Given the description of an element on the screen output the (x, y) to click on. 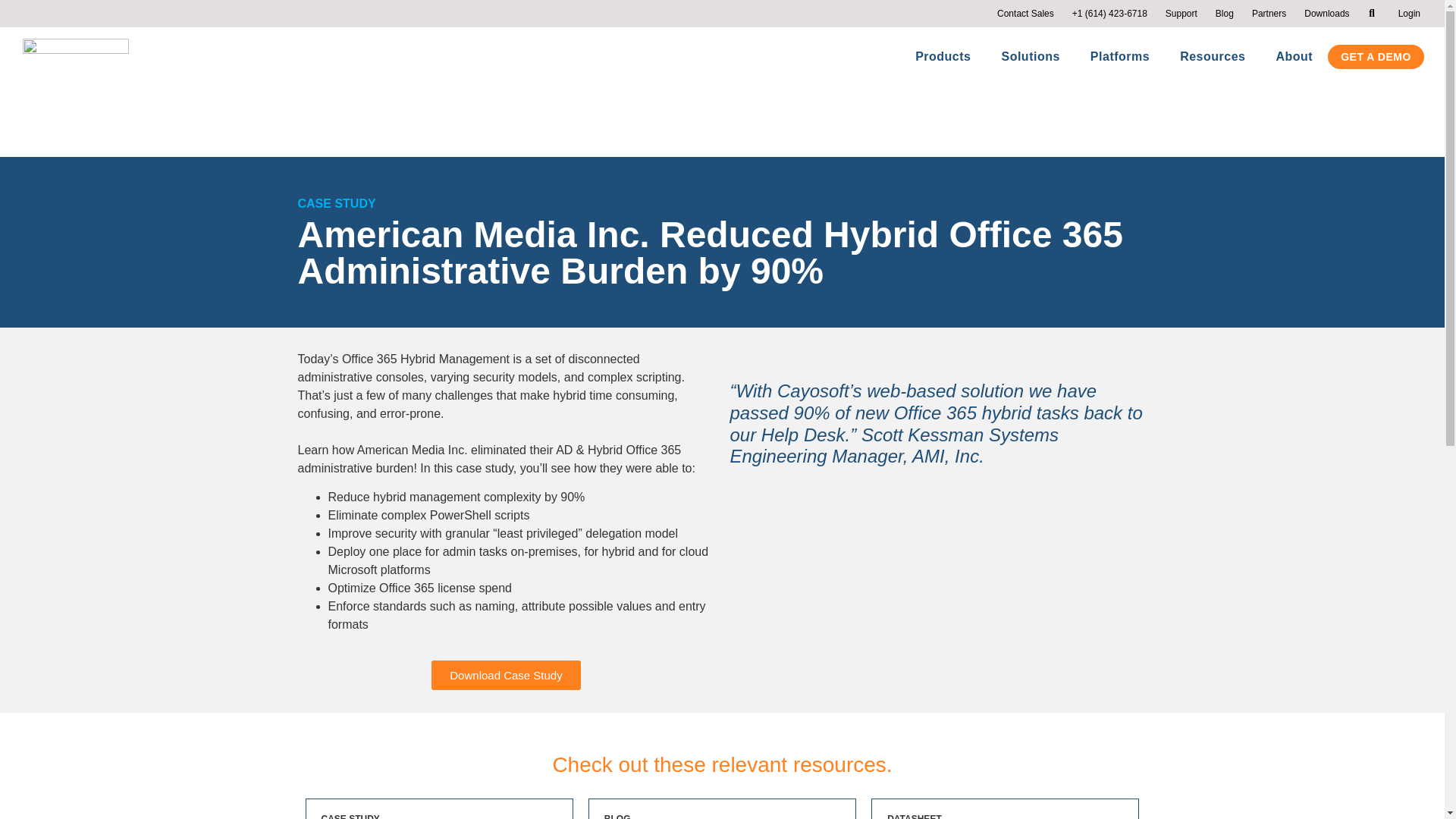
Support (1181, 13)
Blog (1225, 13)
Contact Sales (1025, 13)
Downloads (1326, 13)
Products (942, 56)
Partners (1269, 13)
Resources (1212, 56)
Solutions (1029, 56)
Login (1409, 13)
Platforms (1119, 56)
